Given the description of an element on the screen output the (x, y) to click on. 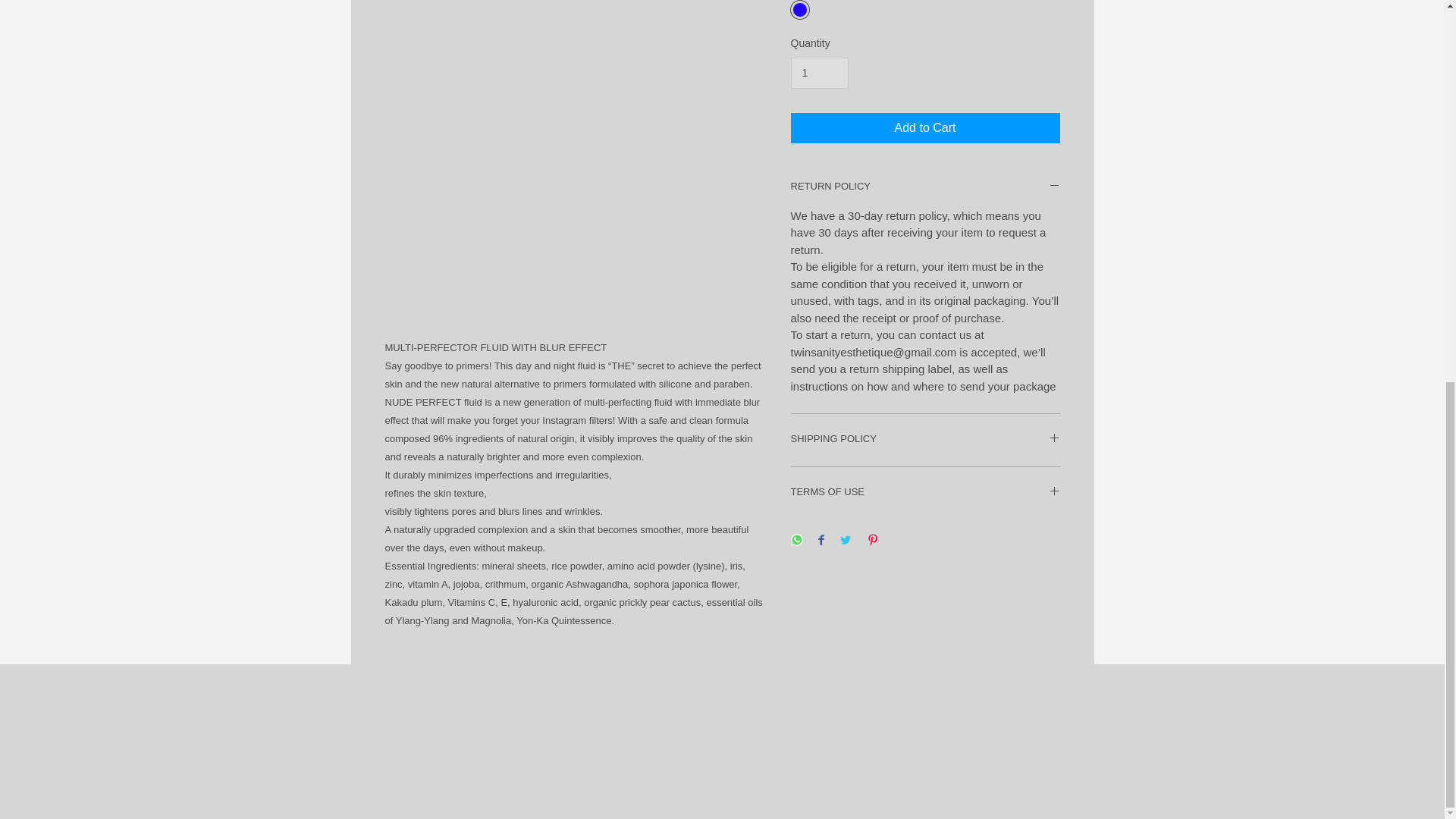
1 (818, 72)
RETURN POLICY (924, 186)
Add to Cart (924, 128)
